Given the description of an element on the screen output the (x, y) to click on. 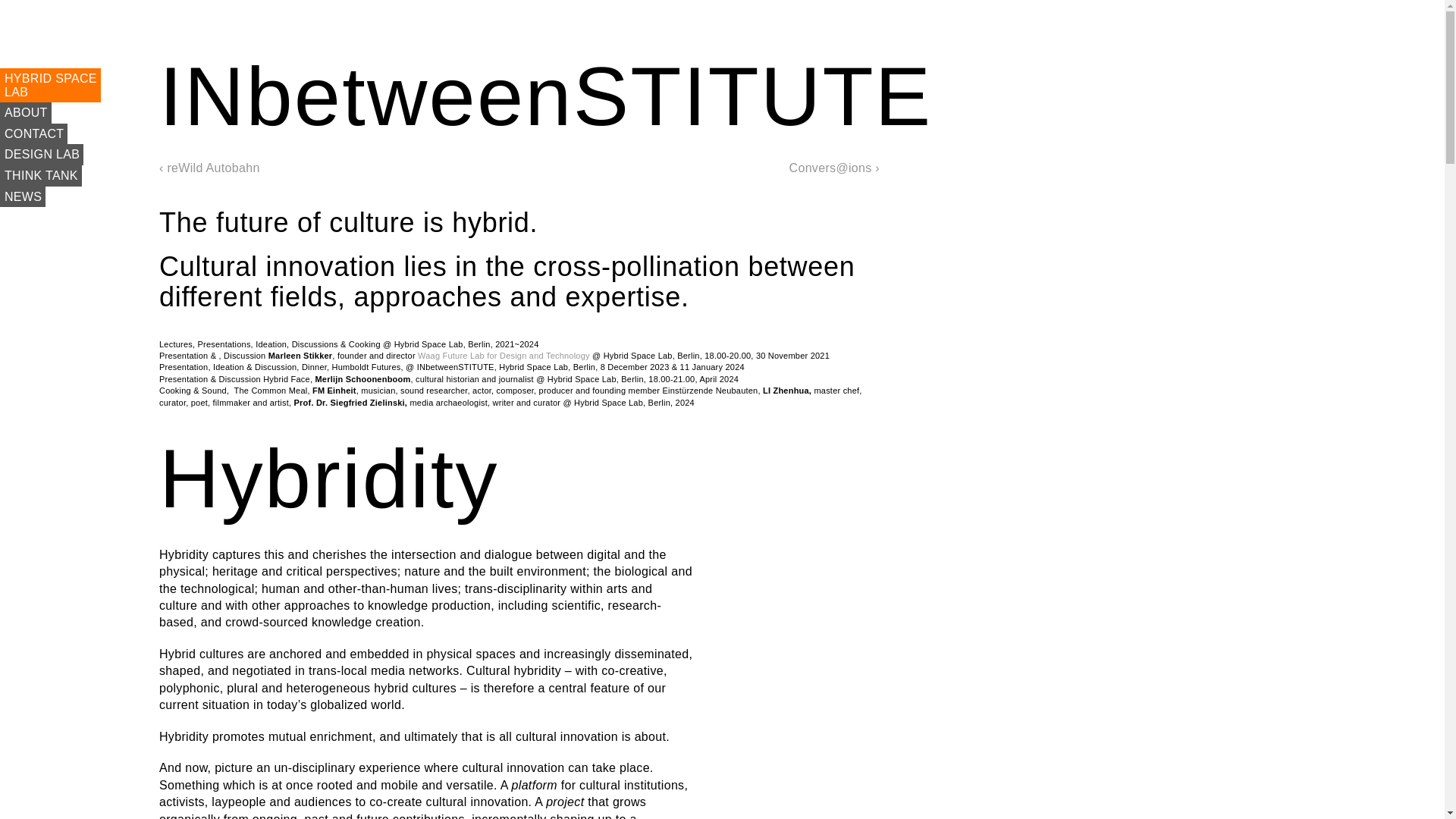
NEWS (22, 197)
ABOUT (50, 84)
DESIGN LAB (25, 112)
CONTACT (41, 154)
Waag Future Lab for Design and Technology (33, 133)
THINK TANK (503, 355)
